Given the description of an element on the screen output the (x, y) to click on. 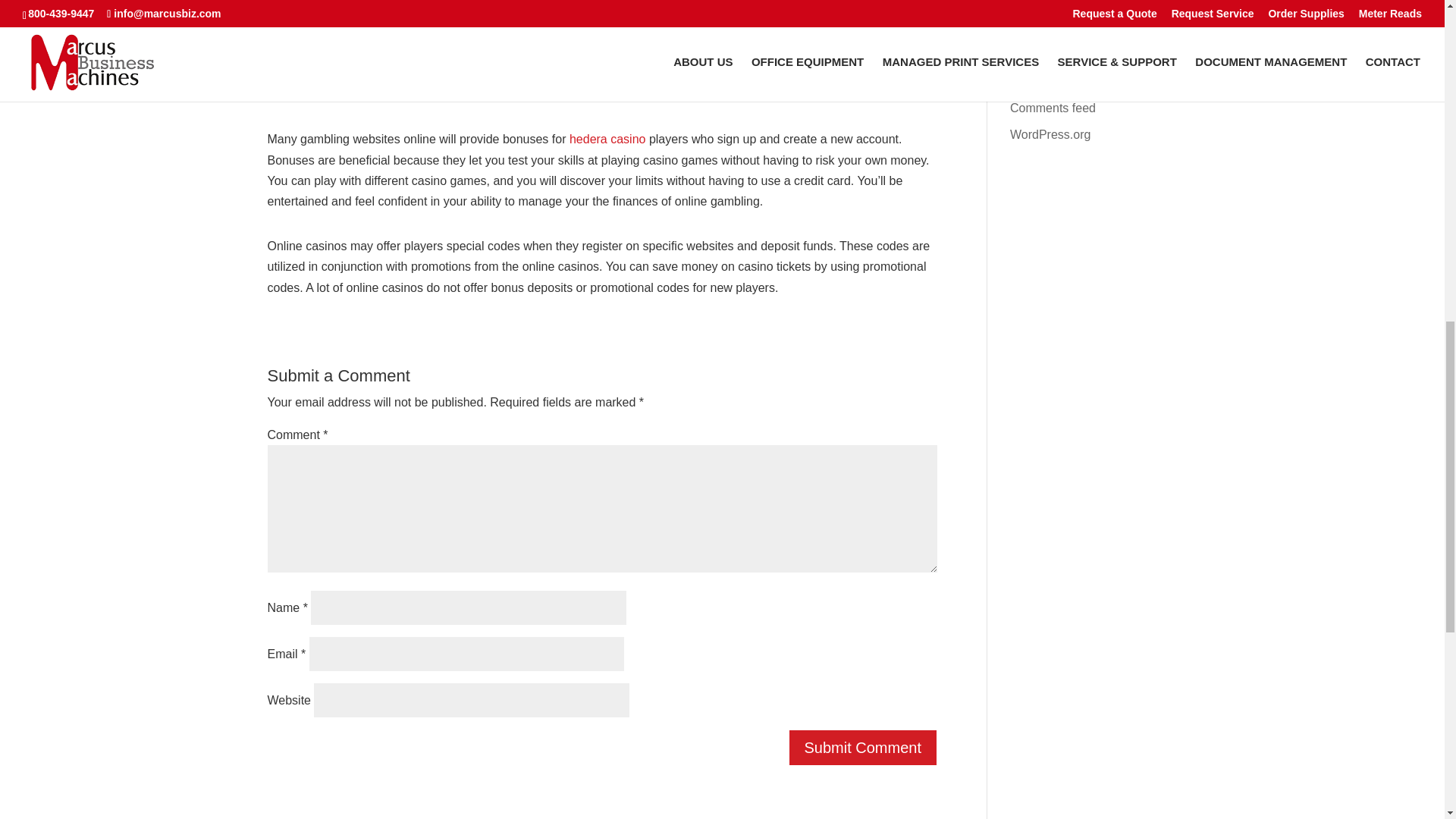
hedera casino (607, 138)
Submit Comment (863, 747)
Entries feed (1042, 81)
Log in (1026, 54)
Submit Comment (863, 747)
